Given the description of an element on the screen output the (x, y) to click on. 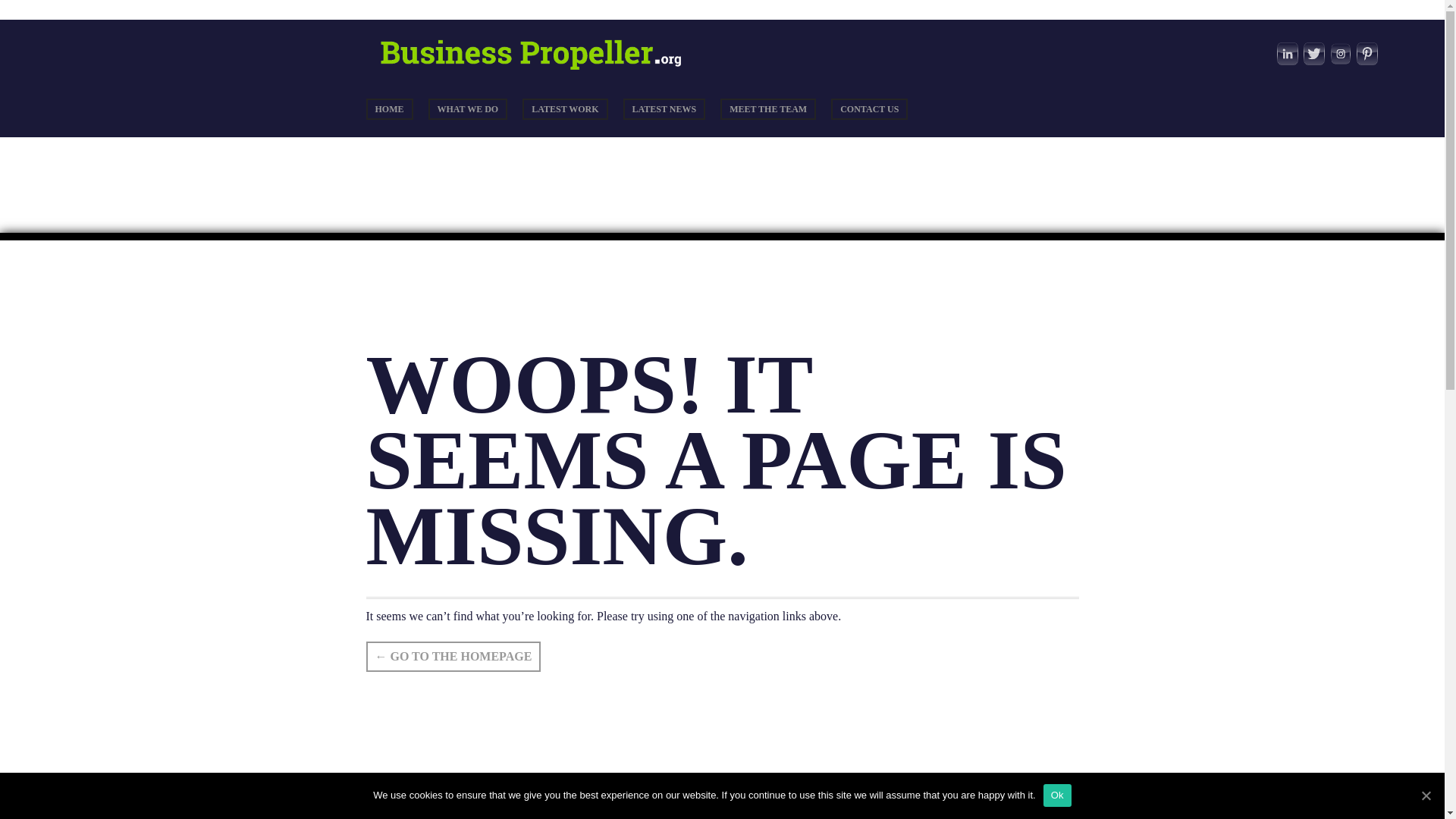
LATEST NEWS (664, 108)
Business Propeller.org (539, 69)
CONTACT US (869, 108)
LATEST WORK (564, 108)
WHAT WE DO (467, 108)
MEET THE TEAM (767, 108)
Ok (1057, 794)
HOME (388, 108)
